Given the description of an element on the screen output the (x, y) to click on. 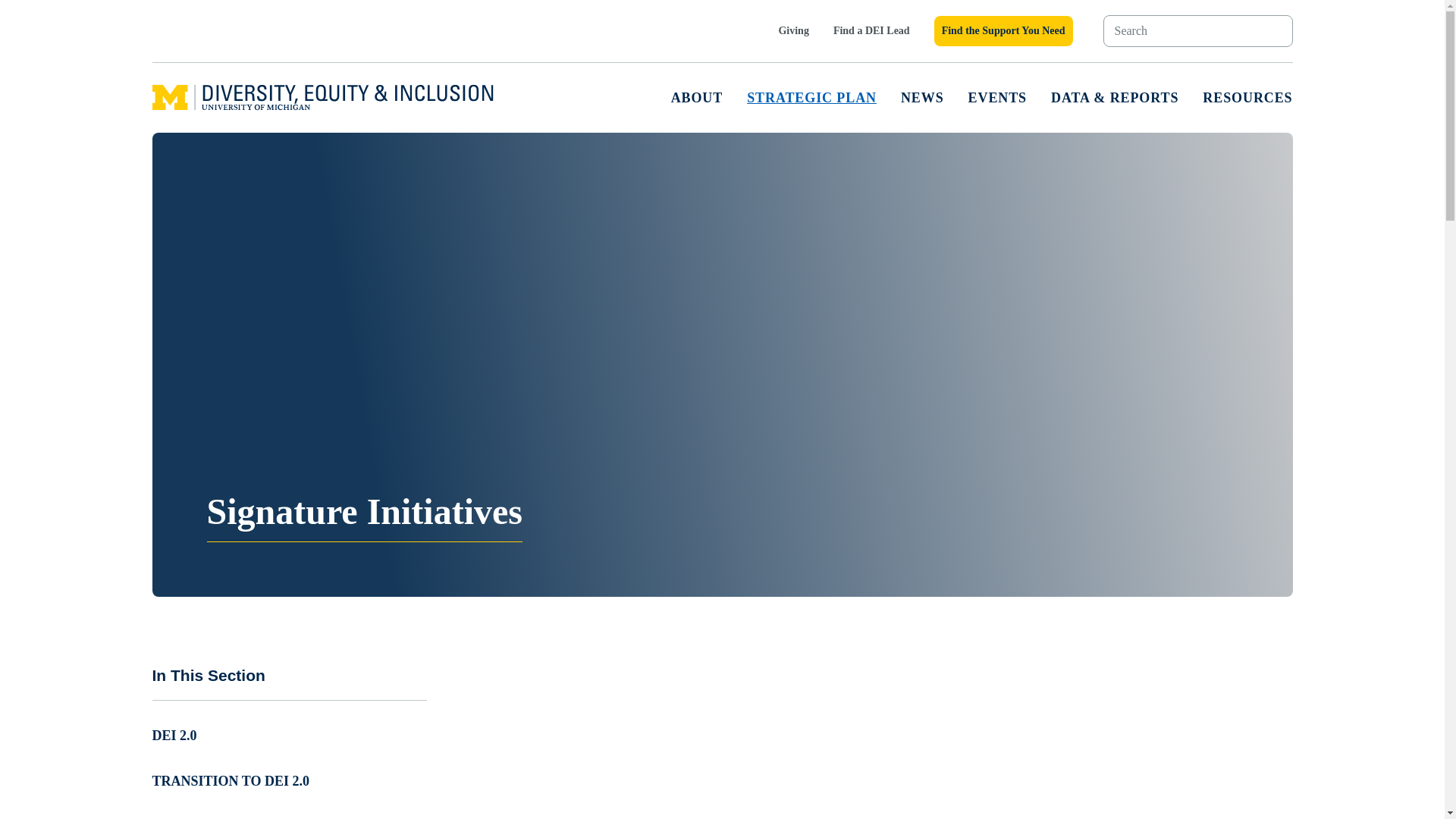
EVENTS (997, 97)
Giving (792, 30)
Find the Support You Need (1003, 30)
RESOURCES (1247, 97)
Find a DEI Lead (871, 30)
STRATEGIC PLAN (811, 97)
ABOUT (697, 97)
NEWS (922, 97)
